Given the description of an element on the screen output the (x, y) to click on. 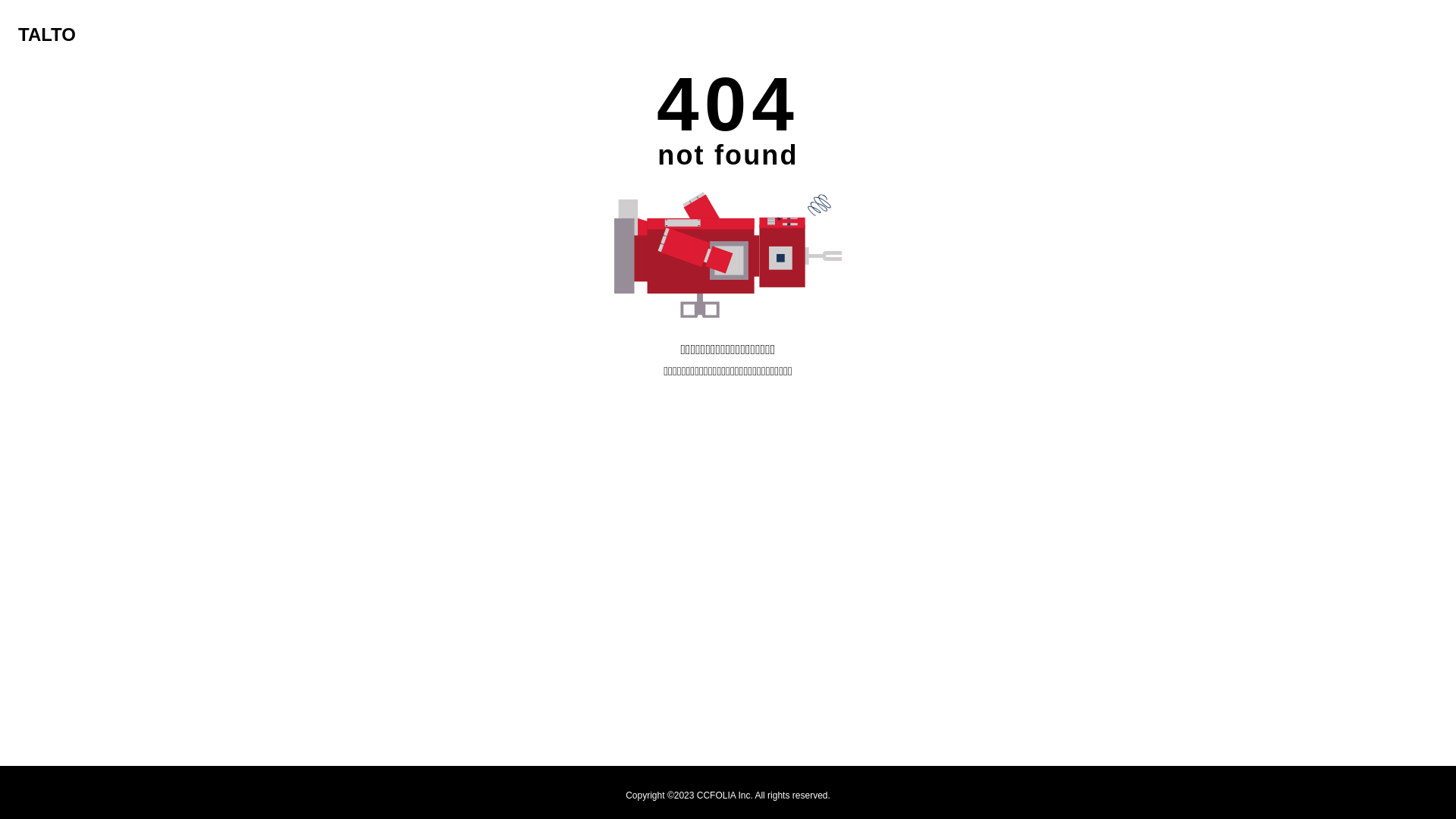
TALTO Element type: text (46, 34)
